Given the description of an element on the screen output the (x, y) to click on. 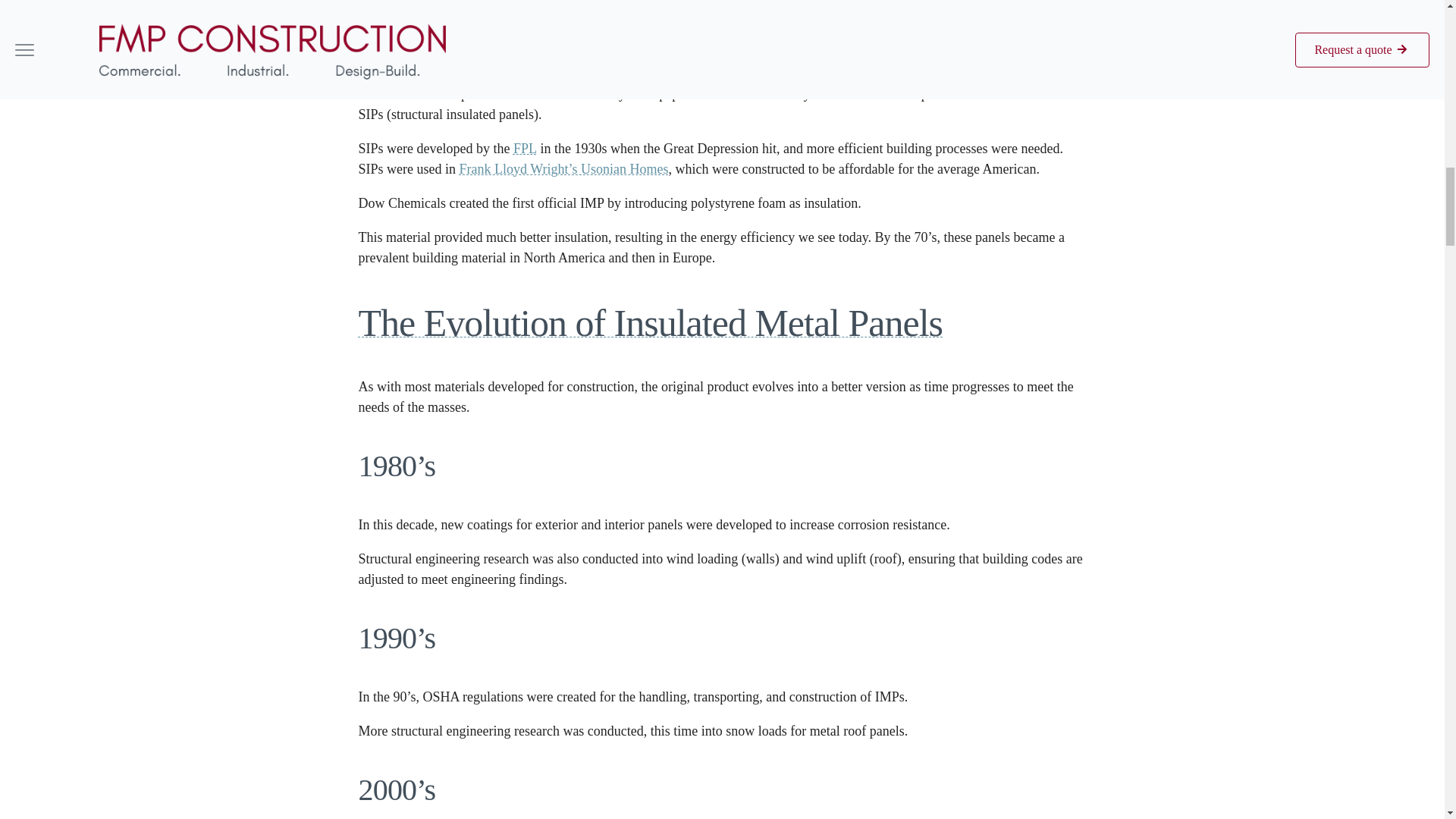
The Story Behind IMPs (722, 30)
FPL (525, 148)
